Given the description of an element on the screen output the (x, y) to click on. 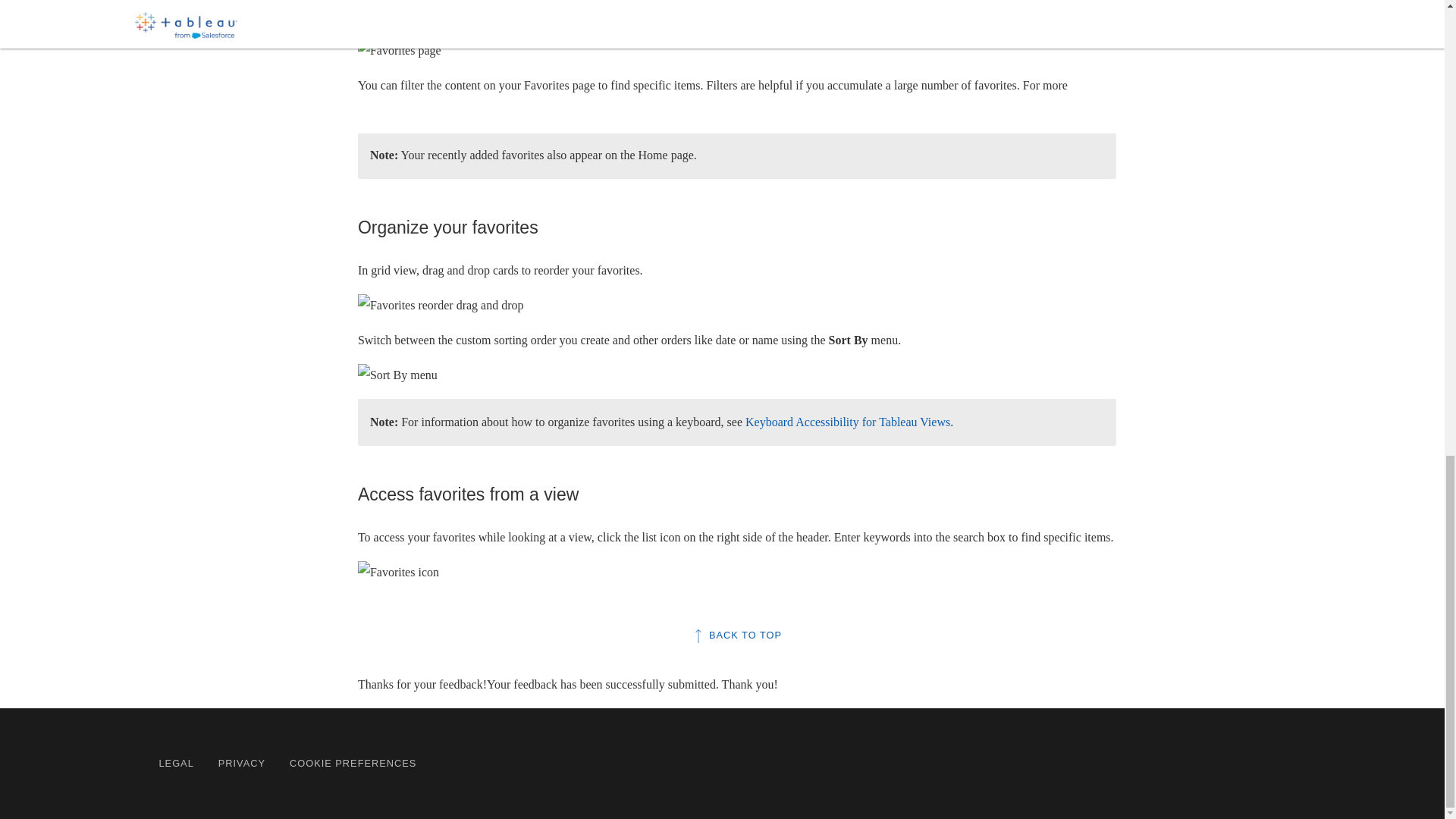
Keyboard Accessibility for Tableau Views (847, 421)
COOKIE PREFERENCES (352, 763)
PRIVACY (241, 763)
BACK TO TOP (736, 634)
Filtered search (475, 107)
LEGAL (175, 763)
